Given the description of an element on the screen output the (x, y) to click on. 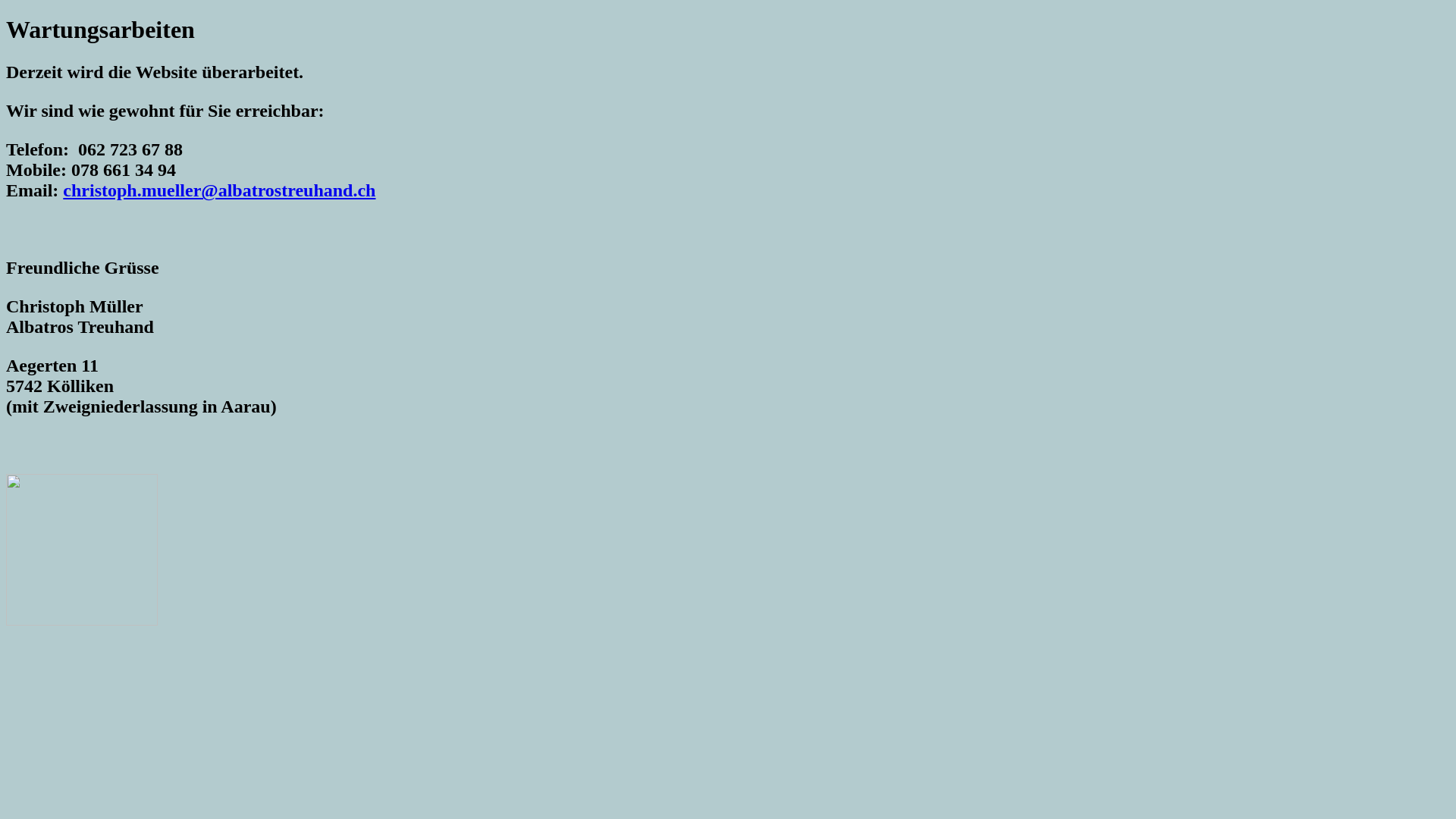
christoph.mueller@albatrostreuhand.ch Element type: text (218, 190)
